Given the description of an element on the screen output the (x, y) to click on. 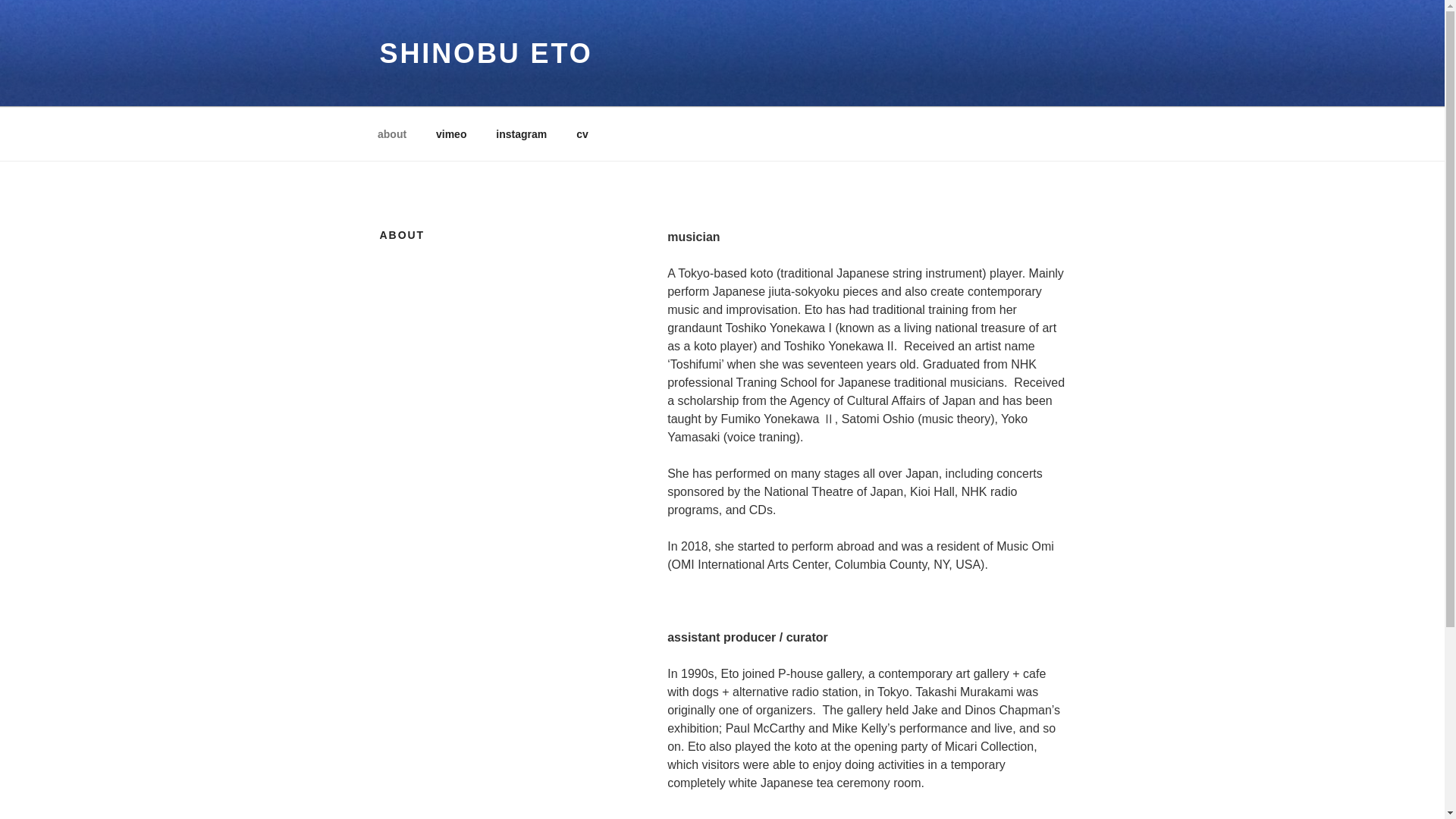
cv (582, 133)
SHINOBU ETO (485, 52)
about (391, 133)
vimeo (451, 133)
instagram (521, 133)
